Given the description of an element on the screen output the (x, y) to click on. 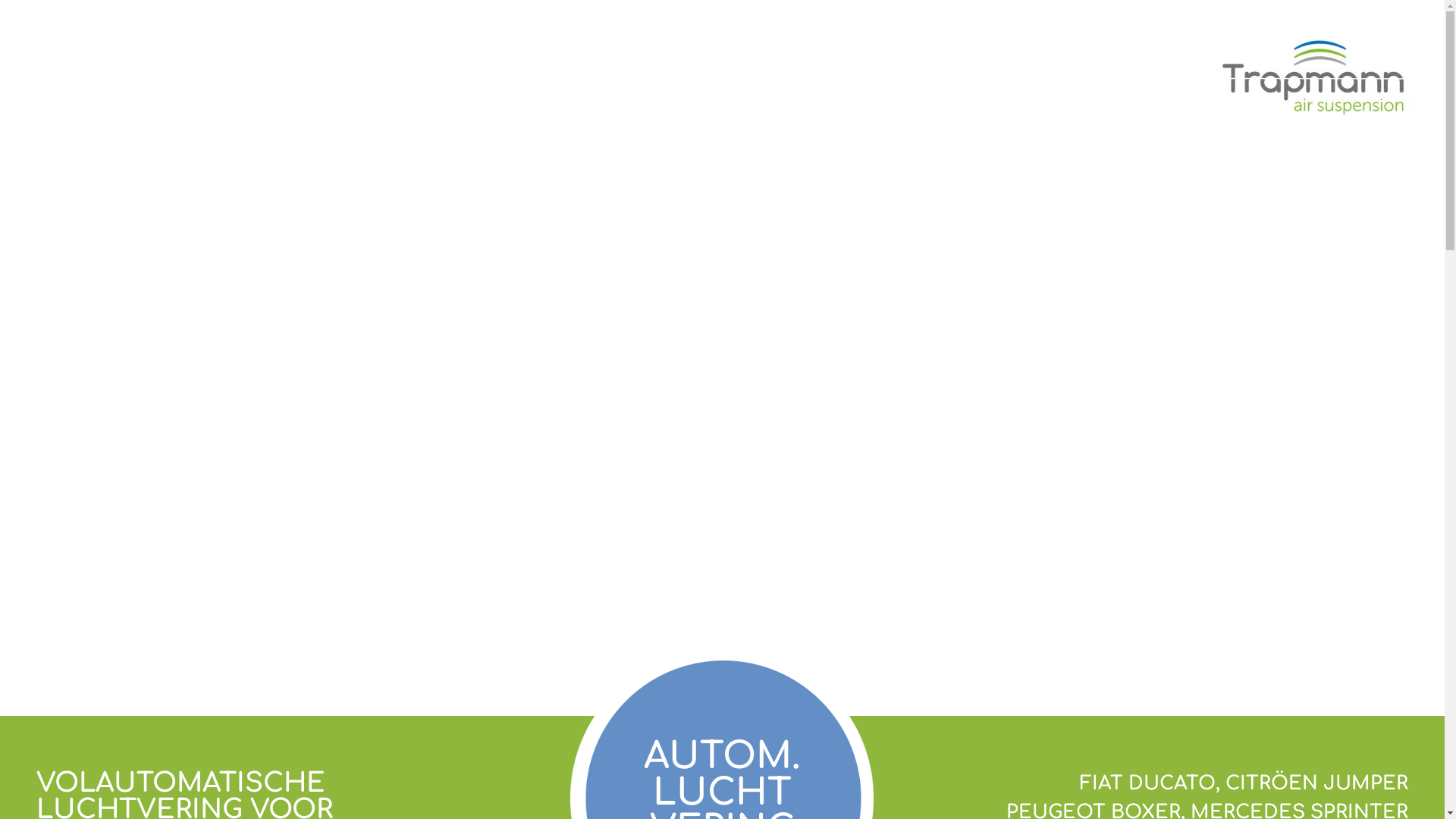
logo trapmann Brochure air suspension-NL campers KL Element type: hover (1319, 76)
FIAT DUCATO Element type: text (1147, 782)
